Given the description of an element on the screen output the (x, y) to click on. 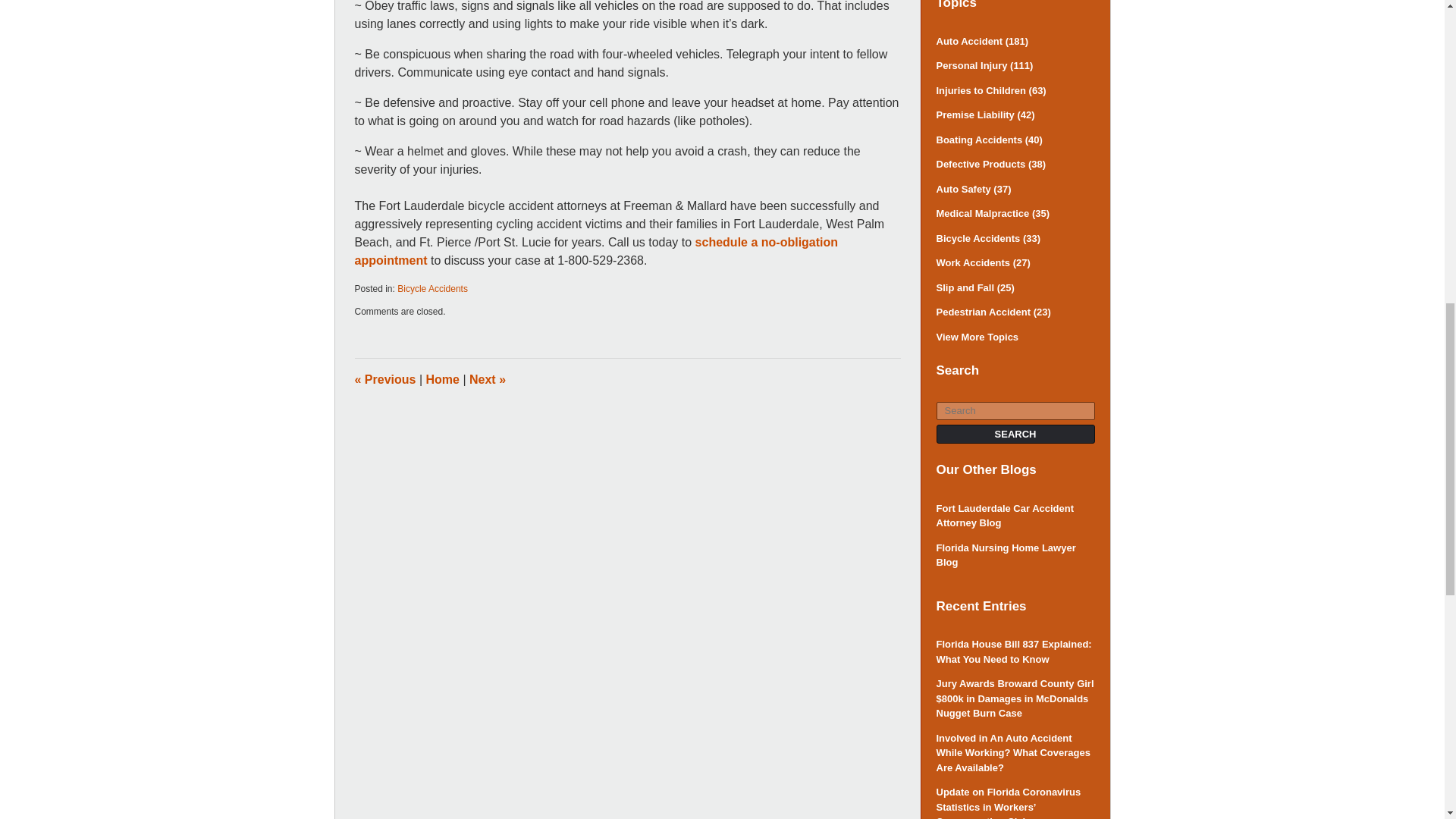
Bicycle Accidents (432, 288)
View all posts in Bicycle Accidents (432, 288)
Home (443, 379)
schedule a no-obligation appointment (596, 250)
